Given the description of an element on the screen output the (x, y) to click on. 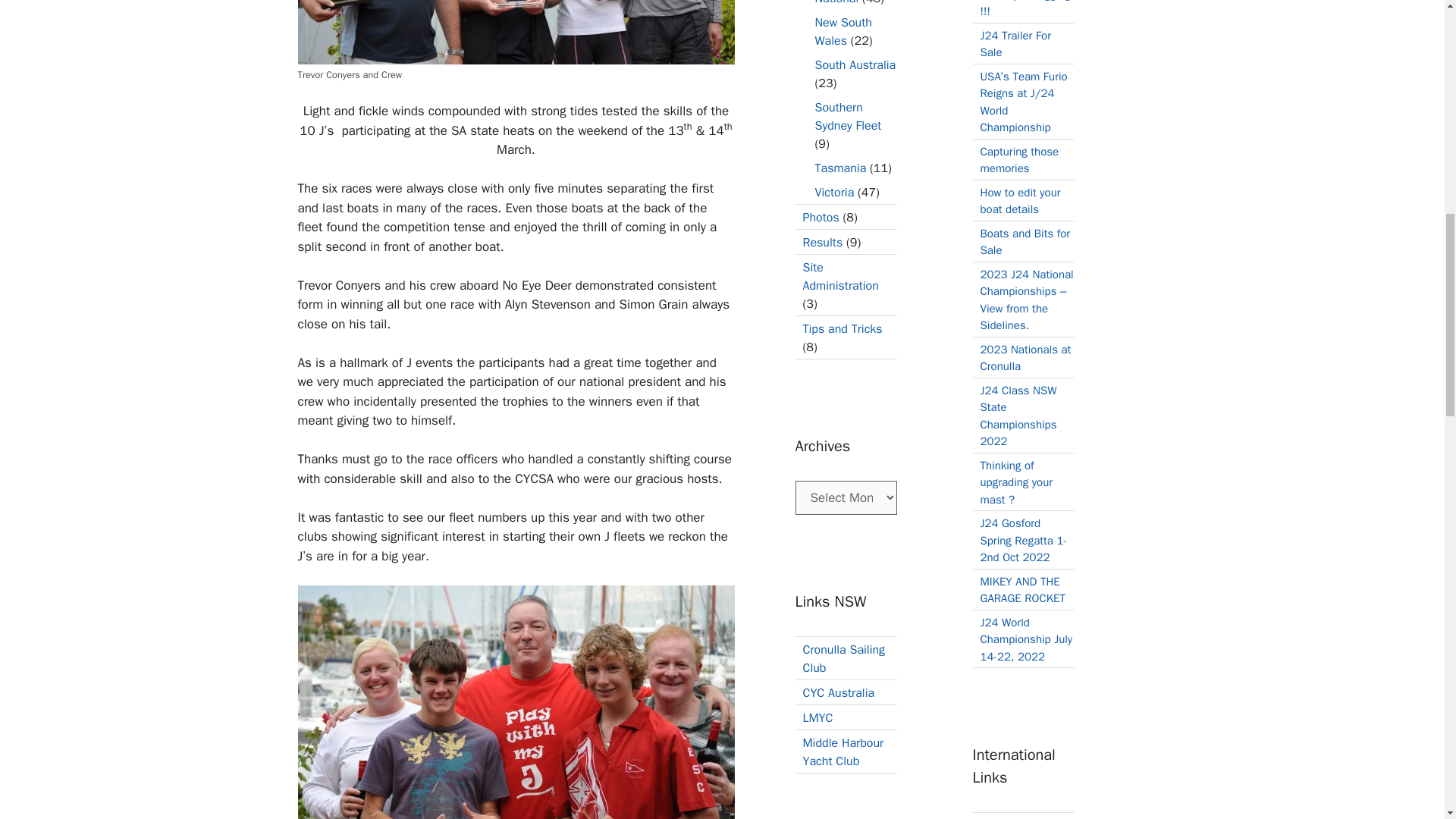
Middle Harbour Yacht Club (842, 752)
CYC Australia (838, 693)
Simon Grain and Crew (515, 702)
LMYC (817, 717)
Cronulla Sailing Club (843, 657)
Trevor Conyers Crew (515, 32)
